Given the description of an element on the screen output the (x, y) to click on. 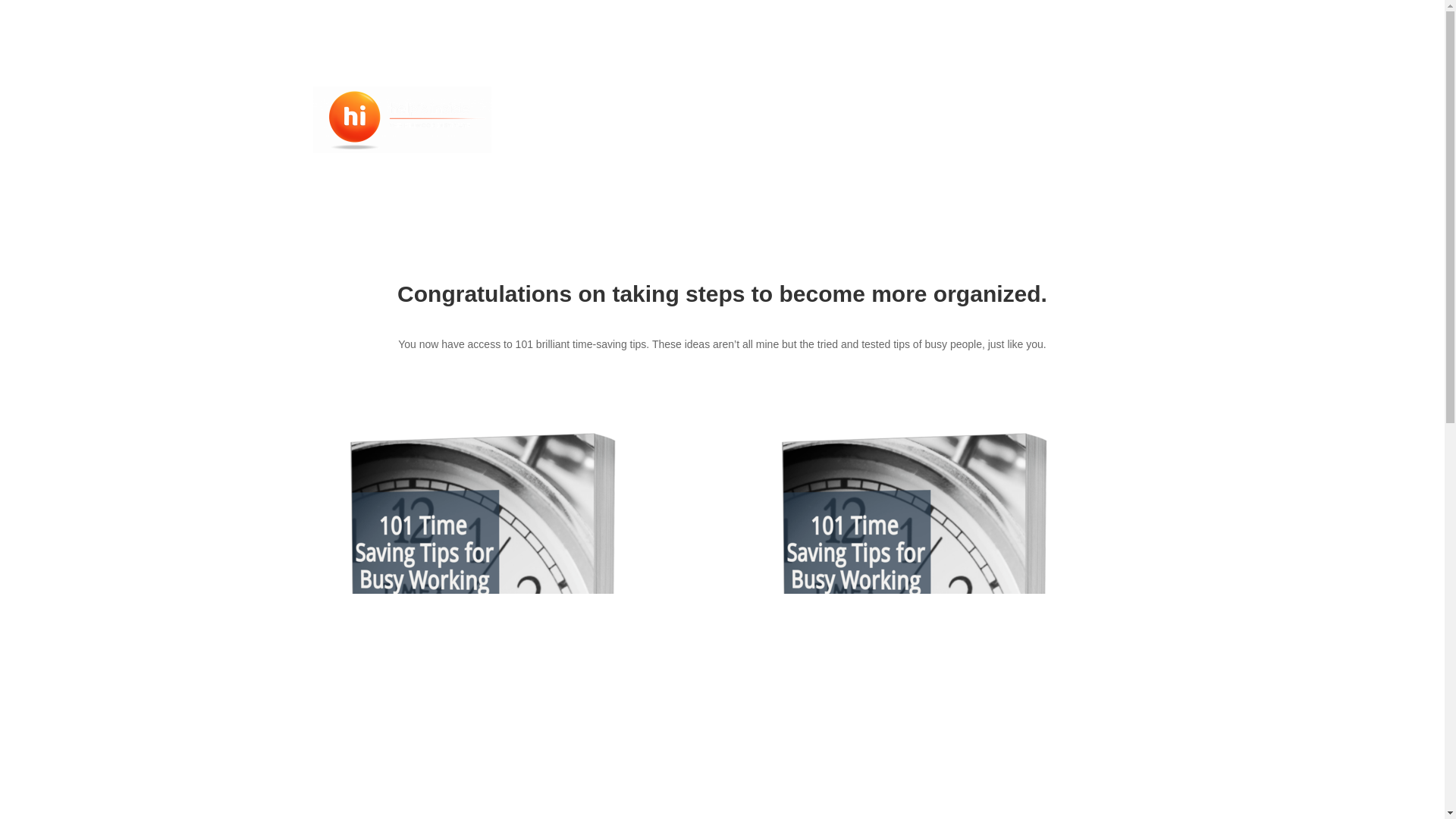
Follow on TikTok (1061, 98)
Follow on Facebook (1031, 98)
Follow on LinkedIn (1091, 98)
Resources (796, 119)
Follow on Youtube (1000, 98)
